Given the description of an element on the screen output the (x, y) to click on. 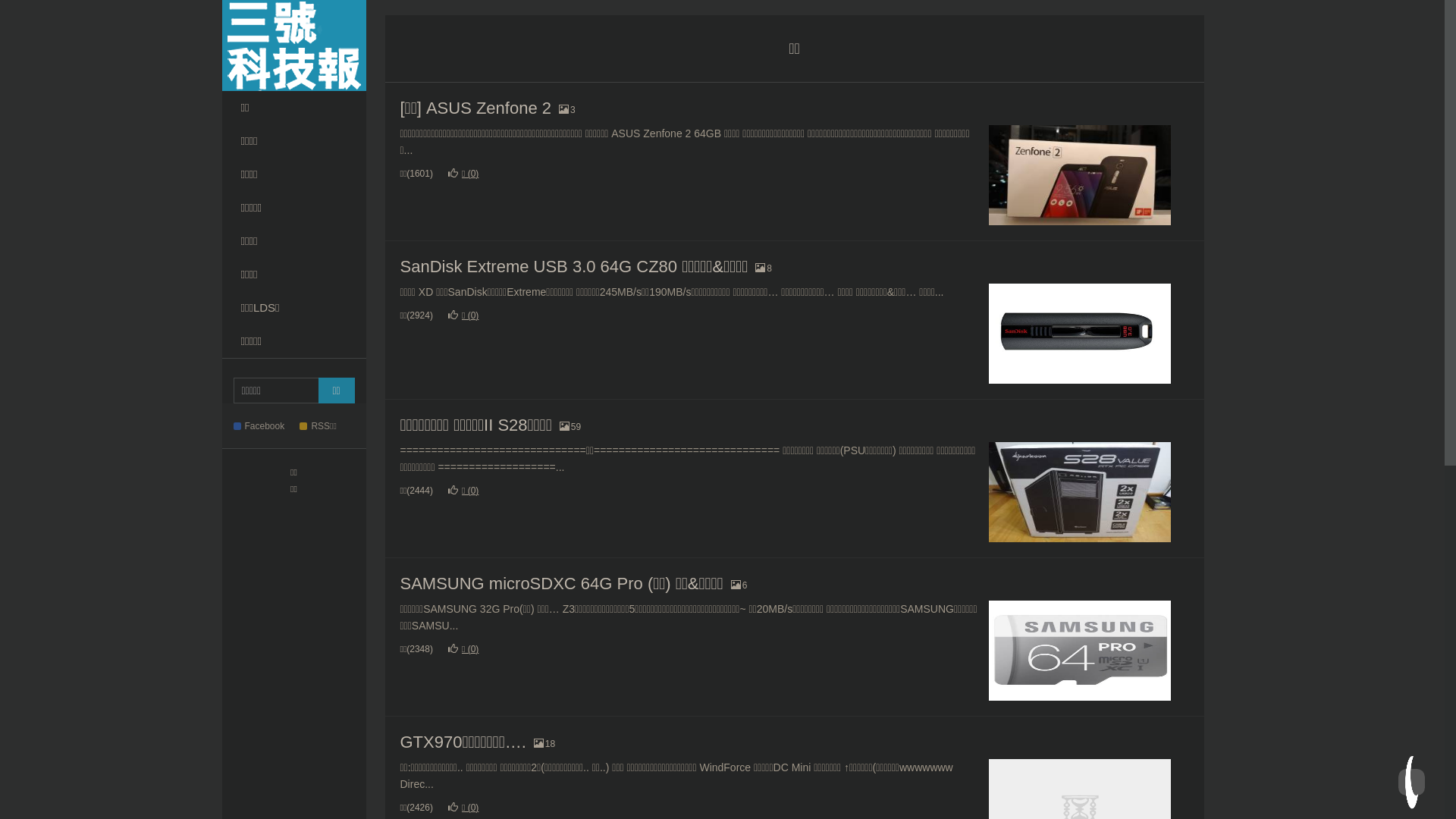
Facebook Element type: text (265, 425)
